Given the description of an element on the screen output the (x, y) to click on. 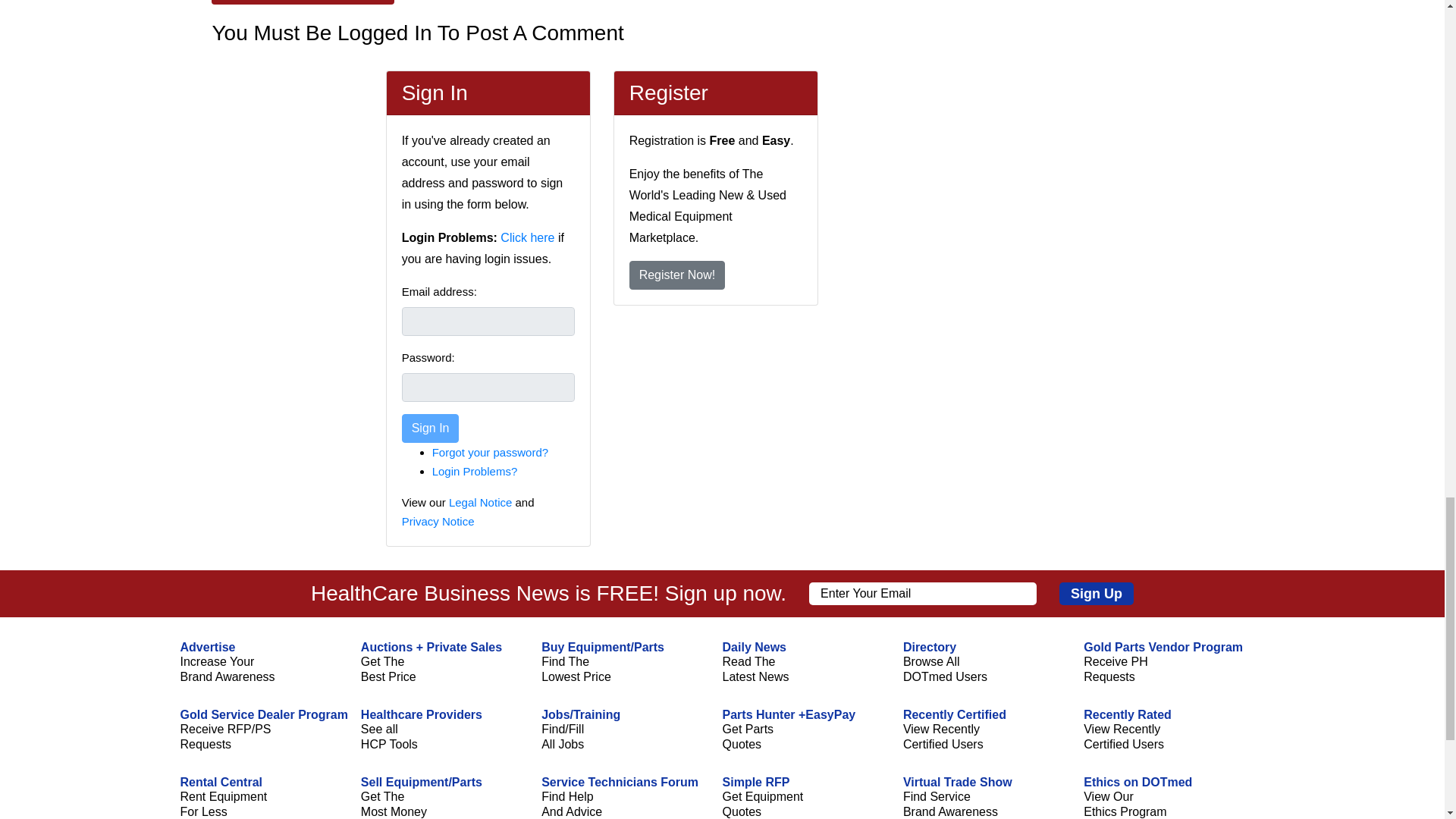
Register Now! (676, 275)
Login Problems? (475, 471)
Sign In (430, 428)
Forget your password? (490, 451)
